Given the description of an element on the screen output the (x, y) to click on. 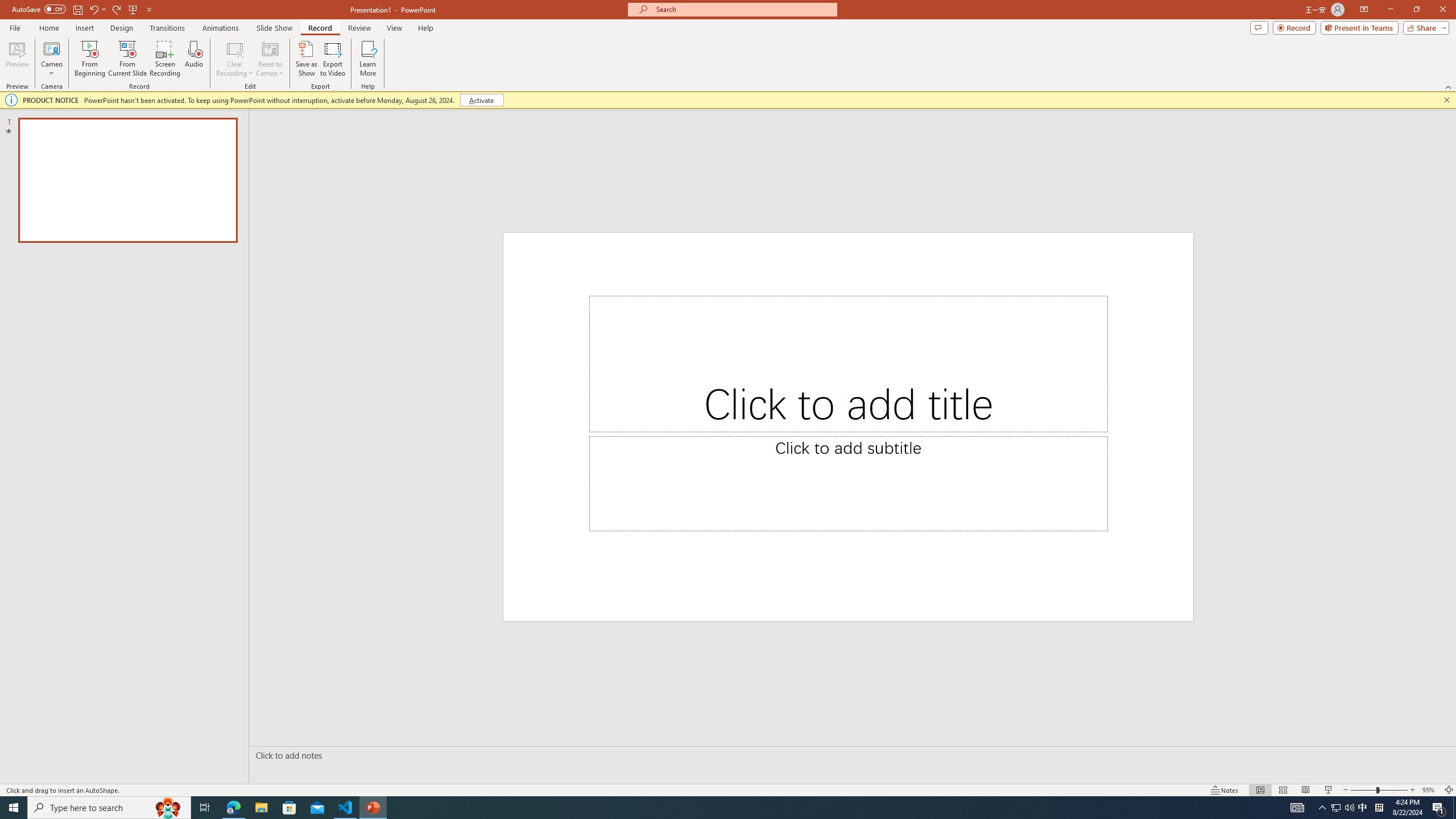
Activate (481, 100)
